Given the description of an element on the screen output the (x, y) to click on. 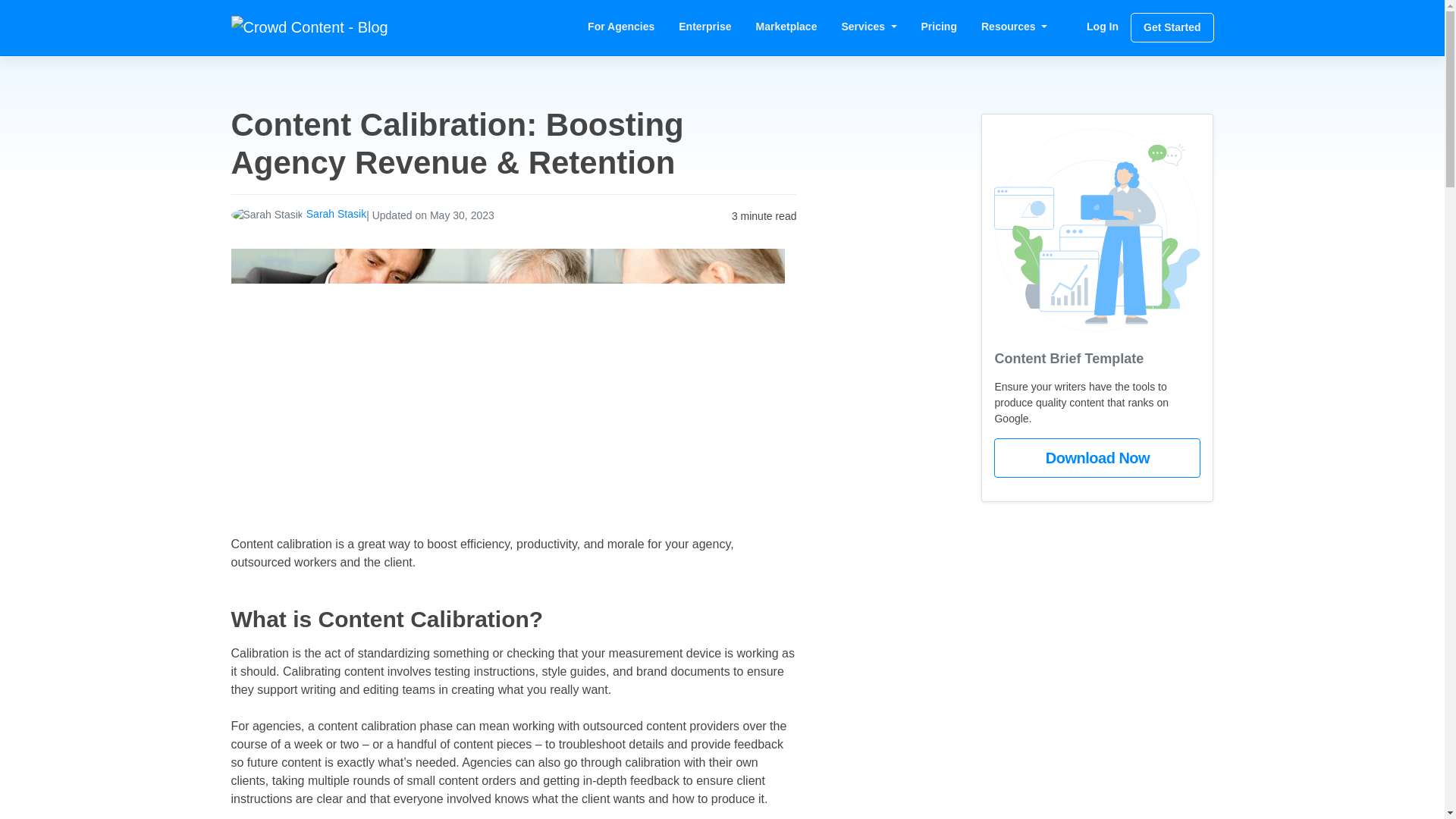
Marketplace (786, 26)
Pricing (938, 26)
Resources (1014, 26)
For Agencies (620, 26)
For Agencies (620, 26)
Sarah Stasik (335, 214)
Pricing (938, 26)
Services (868, 26)
Enterprise (704, 26)
Log In (1102, 26)
Get Started (1171, 27)
Enterprise (704, 26)
Resources (1014, 26)
Services (868, 26)
Marketplace (786, 26)
